Given the description of an element on the screen output the (x, y) to click on. 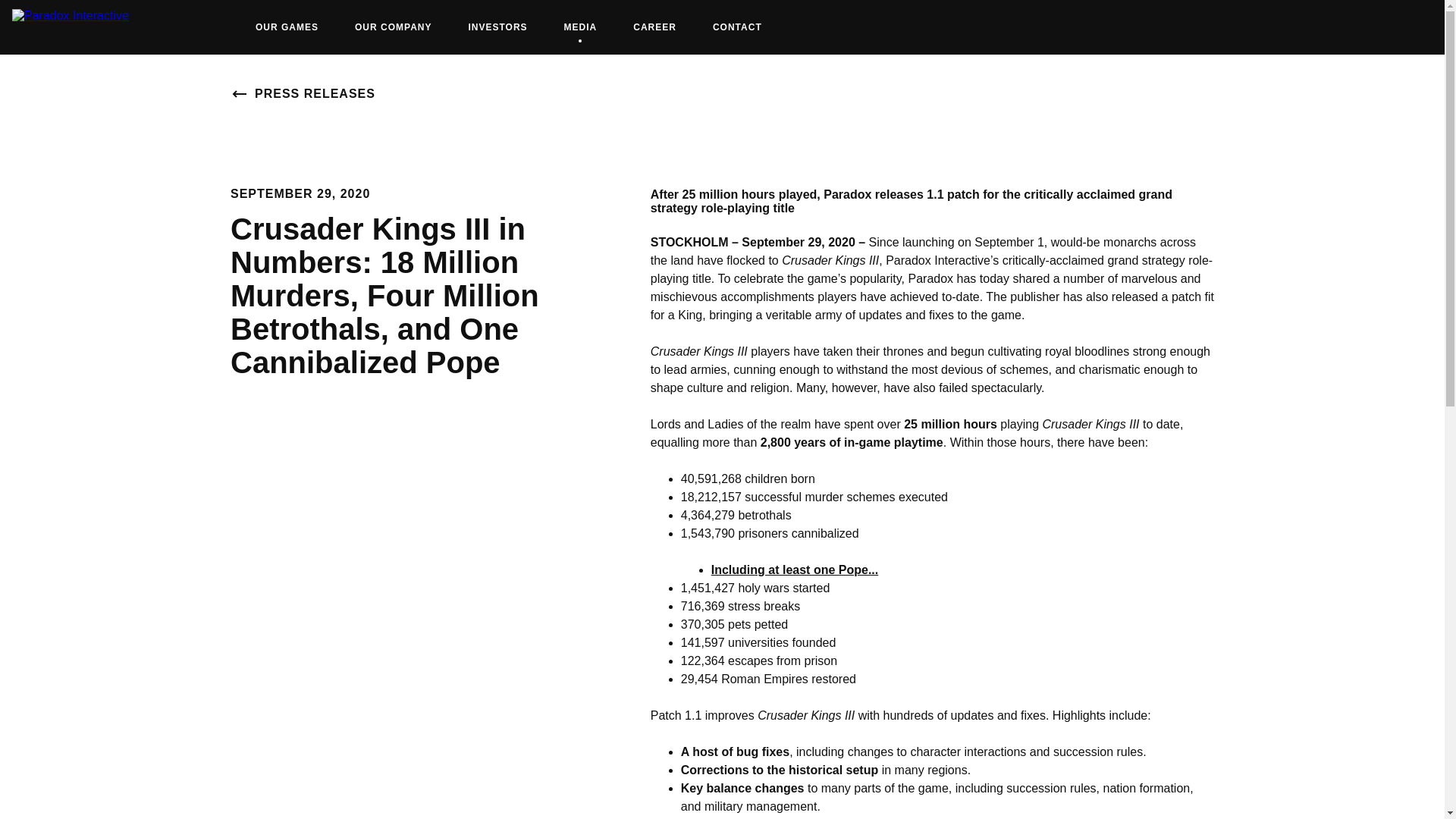
CONTACT (580, 27)
OUR GAMES (737, 27)
INVESTORS (286, 27)
PRESS RELEASES (496, 27)
CAREER (302, 93)
Including at least one Pope... (654, 27)
OUR COMPANY (794, 569)
